Given the description of an element on the screen output the (x, y) to click on. 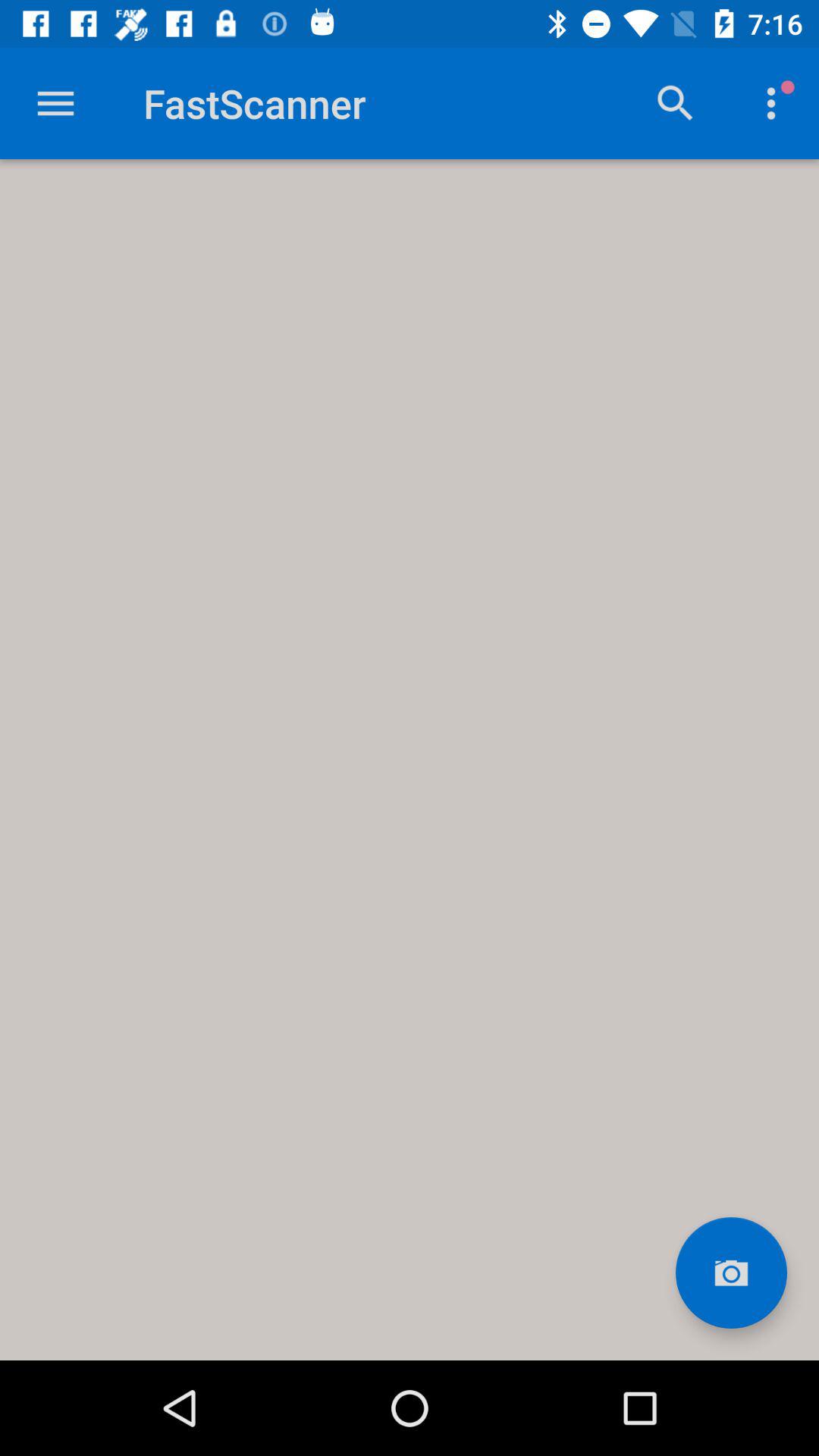
view menu (55, 103)
